Given the description of an element on the screen output the (x, y) to click on. 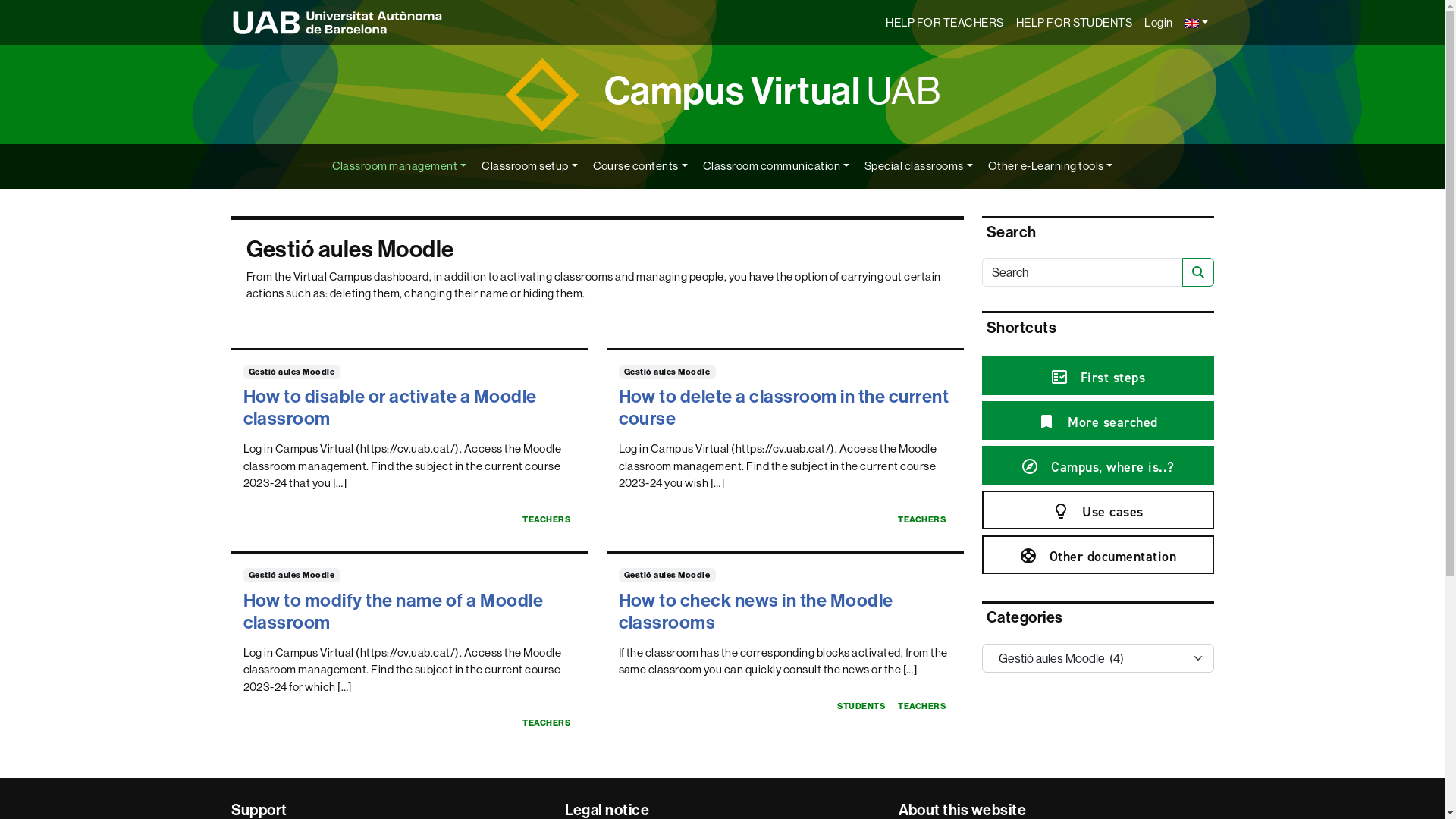
Login Element type: text (1158, 22)
Campus Virtual UAB Element type: text (772, 89)
Search Element type: text (1197, 271)
How to delete a classroom in the current course Element type: text (783, 406)
Other e-Learning tools Element type: text (1050, 166)
How to modify the name of a Moodle classroom Element type: text (392, 610)
HELP FOR STUDENTS Element type: text (1074, 22)
Classroom communication Element type: text (775, 166)
Classroom management Element type: text (399, 166)
TEACHERS Element type: text (546, 722)
supportOther documentation Element type: text (1097, 554)
fact_checkFirst steps Element type: text (1097, 375)
English Element type: hover (1196, 22)
TEACHERS Element type: text (921, 519)
TEACHERS Element type: text (546, 519)
How to check news in the Moodle classrooms Element type: text (755, 610)
How to disable or activate a Moodle classroom Element type: text (389, 406)
STUDENTS Element type: text (861, 706)
TEACHERS Element type: text (921, 706)
lightbulbUse cases Element type: text (1097, 509)
Special classrooms Element type: text (918, 166)
Classroom setup Element type: text (529, 166)
HELP FOR TEACHERS Element type: text (944, 22)
exploreCampus, where is..? Element type: text (1097, 464)
Course contents Element type: text (639, 166)
bookmarkMore searched Element type: text (1097, 420)
